Given the description of an element on the screen output the (x, y) to click on. 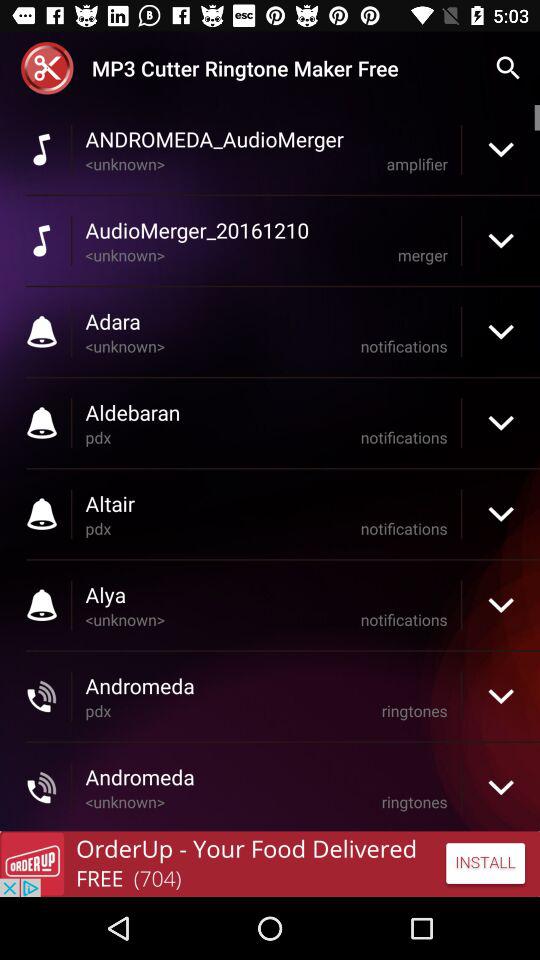
sponsored content (270, 864)
